Given the description of an element on the screen output the (x, y) to click on. 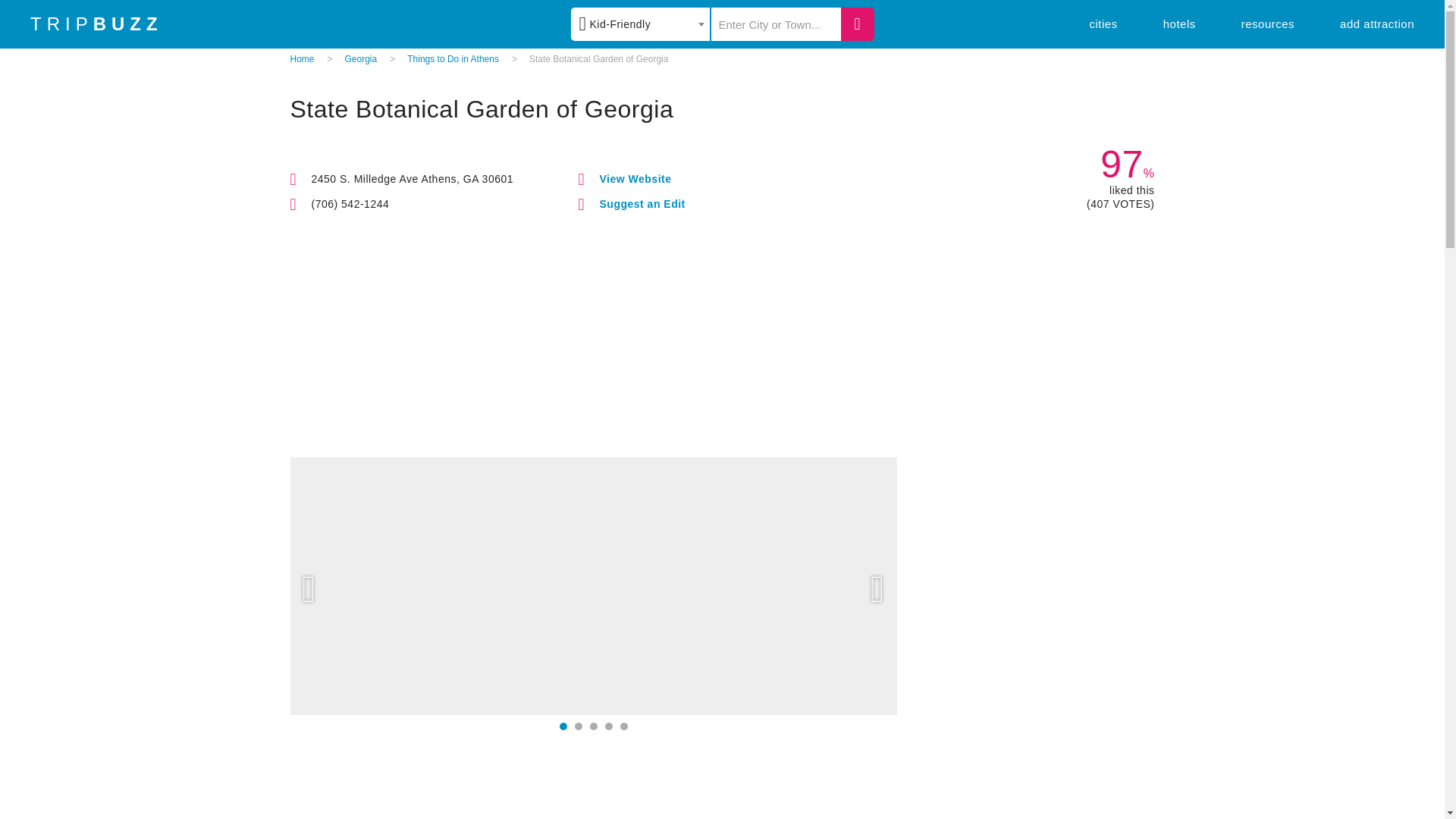
View Website (634, 178)
Kid-Friendly (639, 24)
Home (301, 59)
Suggest an Edit (641, 203)
2 (578, 726)
5 (623, 726)
TRIPBUZZ (96, 24)
3 (592, 726)
cities (1103, 23)
Things to Do in Athens (453, 59)
